Given the description of an element on the screen output the (x, y) to click on. 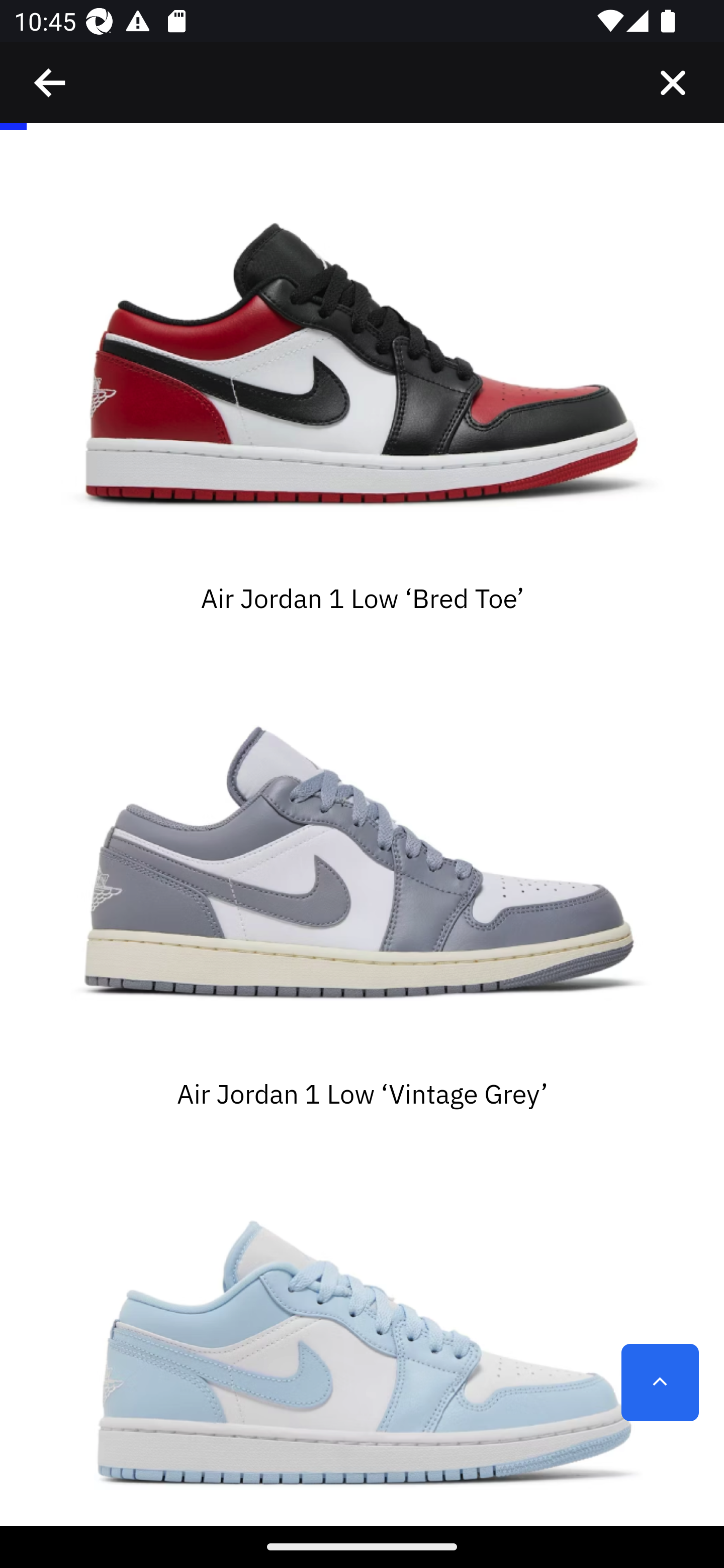
 (50, 83)
 (672, 83)
Air Jordan 1 Low 'Bred Toe' 553558‑612 (361, 369)
Air Jordan 1 Low 'Vintage Grey' 553558‑053 (361, 865)
(Women) Air Jordan 1 Low 'Aluminum' DC0774‑141 (361, 1339)
Scroll to top  (659, 1382)
